Given the description of an element on the screen output the (x, y) to click on. 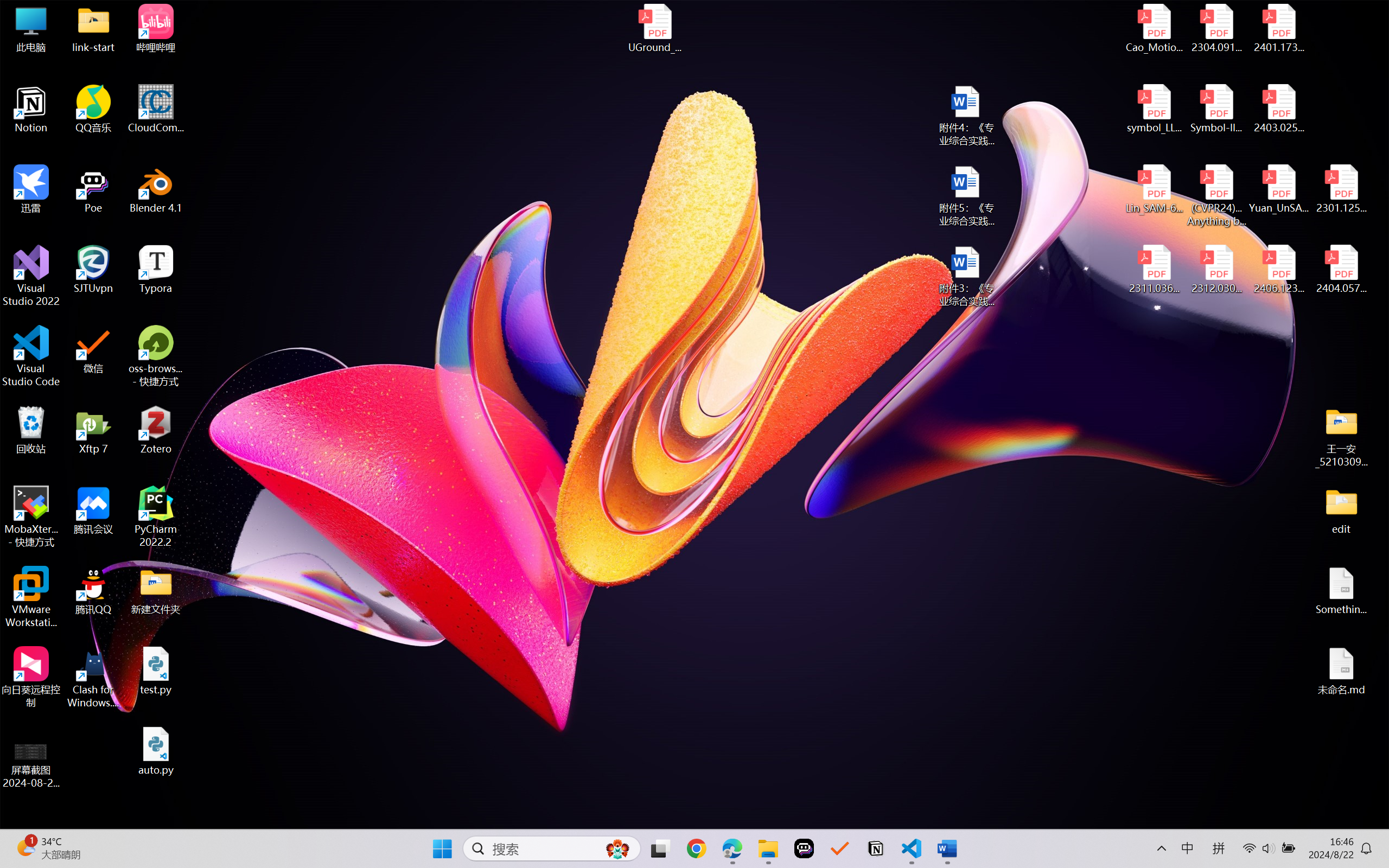
(CVPR24)Matching Anything by Segmenting Anything.pdf (1216, 195)
2312.03032v2.pdf (1216, 269)
Symbol-llm-v2.pdf (1216, 109)
2301.12597v3.pdf (1340, 189)
Visual Studio Code (31, 355)
